Given the description of an element on the screen output the (x, y) to click on. 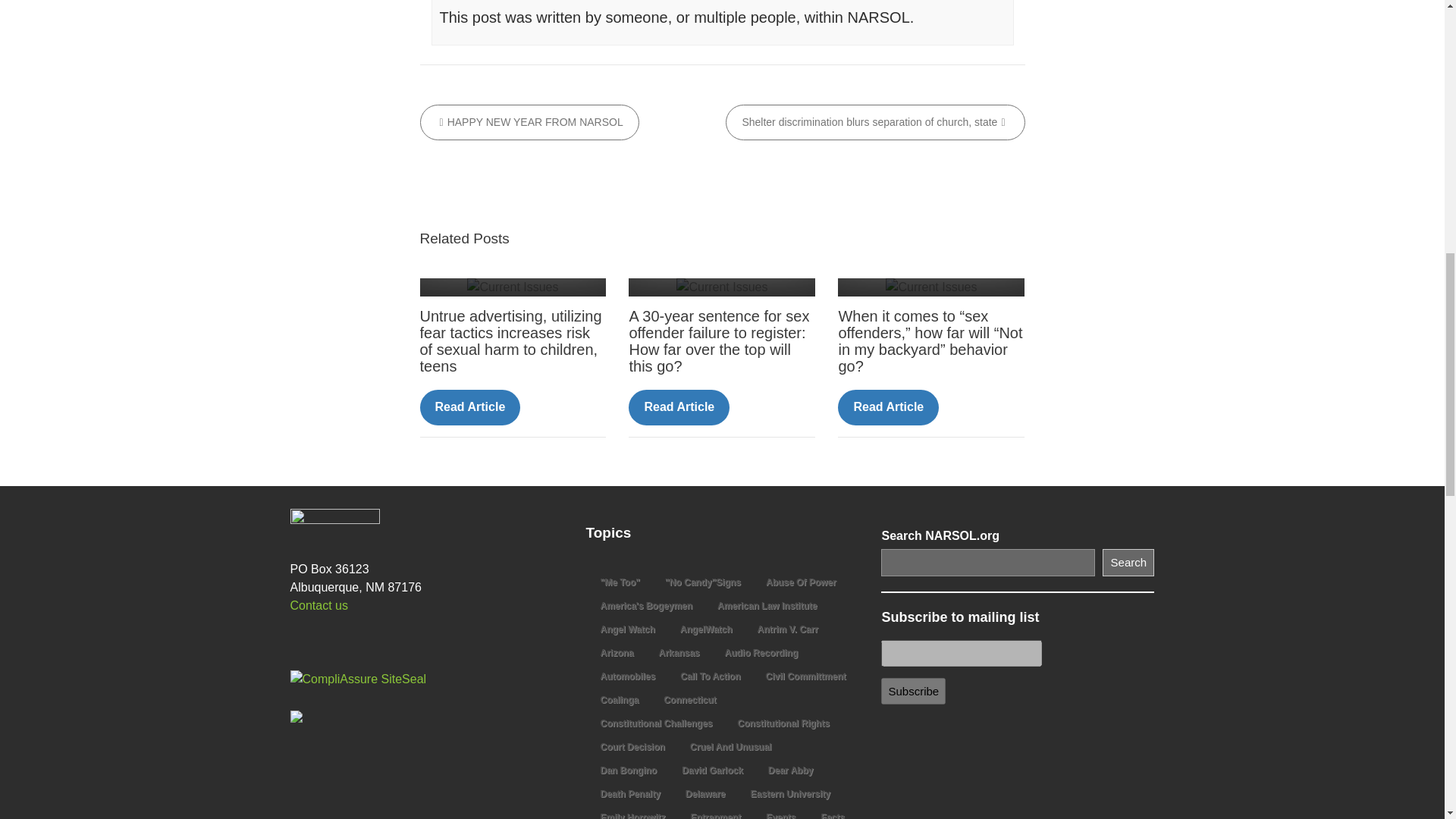
Subscribe (912, 691)
